Given the description of an element on the screen output the (x, y) to click on. 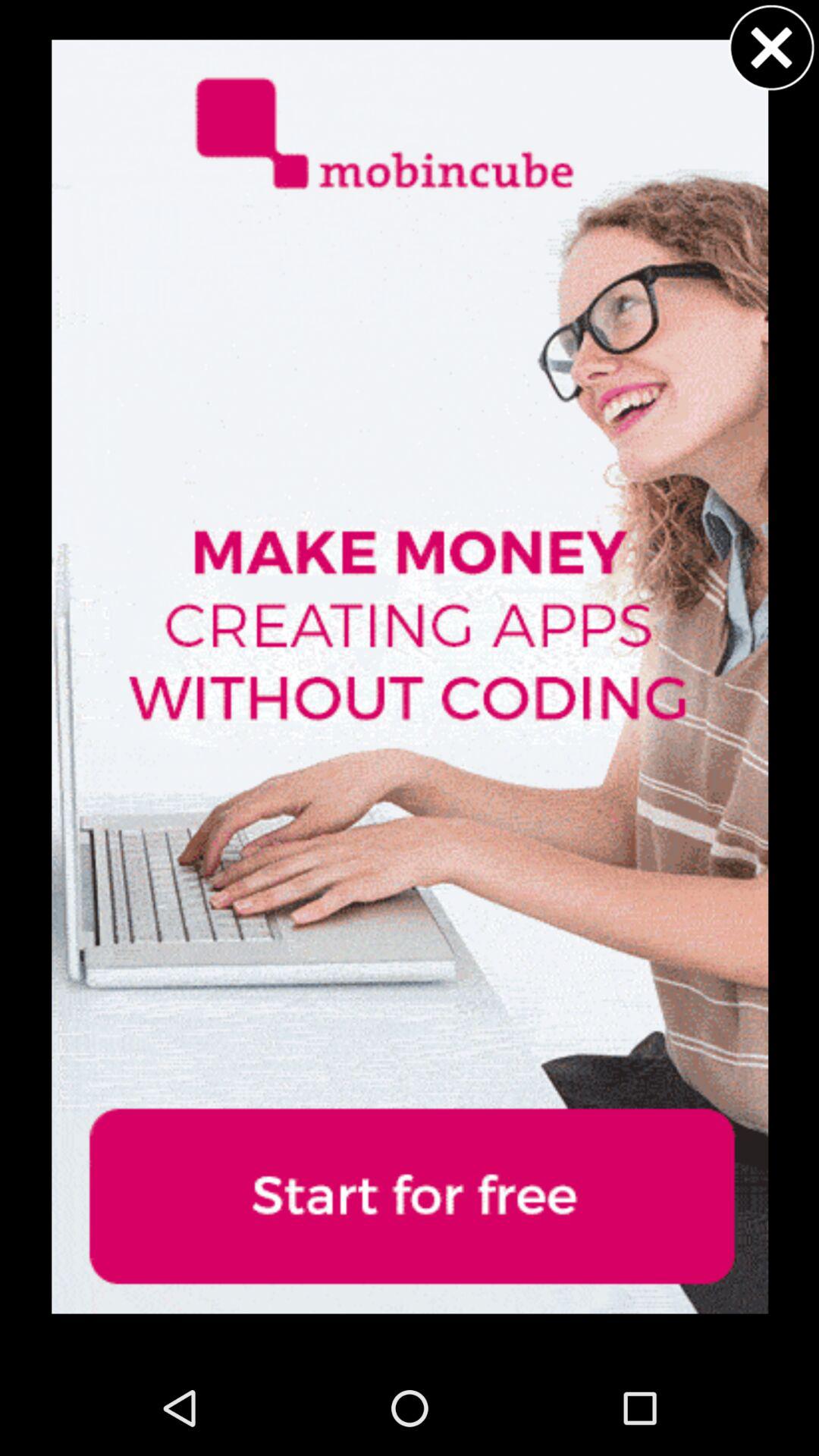
caress buttons for advertisement (771, 47)
